Given the description of an element on the screen output the (x, y) to click on. 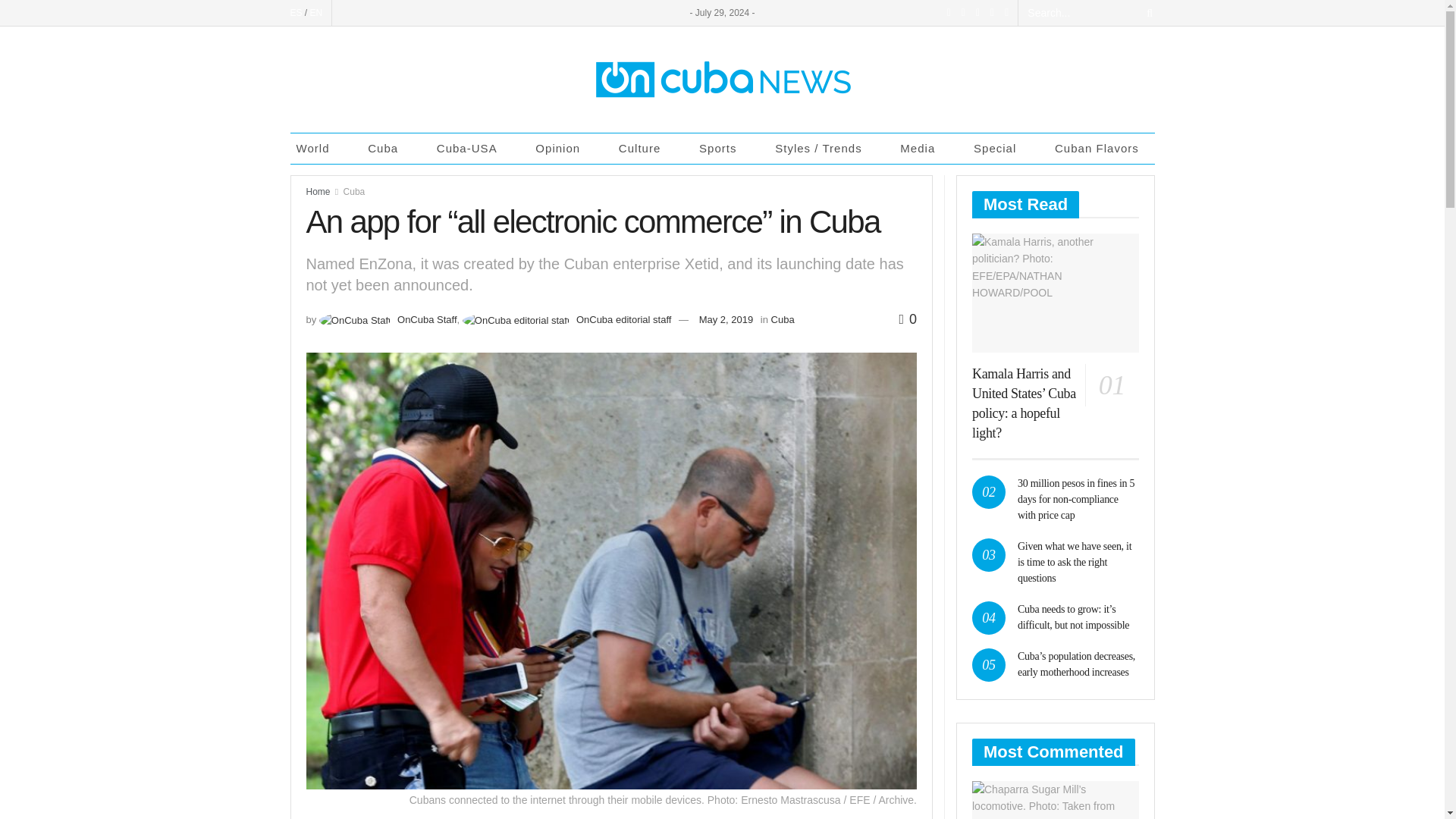
Cuban Flavors (1101, 148)
Sports (722, 148)
ES (295, 12)
Special (1000, 148)
EN (316, 12)
Media (921, 148)
World (317, 148)
Cuba (387, 148)
Cuba-USA (471, 148)
Opinion (562, 148)
Culture (644, 148)
